Given the description of an element on the screen output the (x, y) to click on. 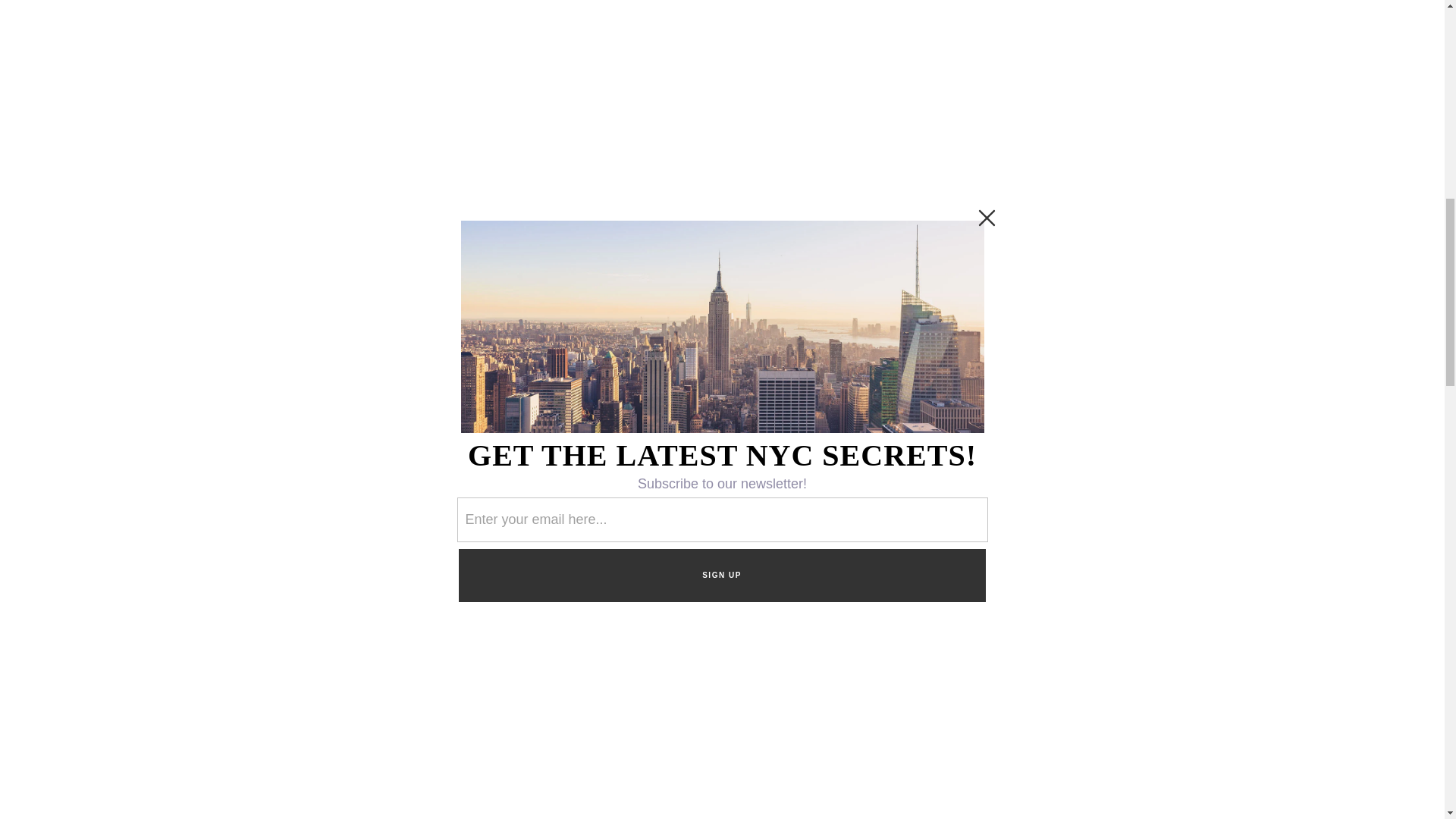
FareHarbor (1342, 64)
